Given the description of an element on the screen output the (x, y) to click on. 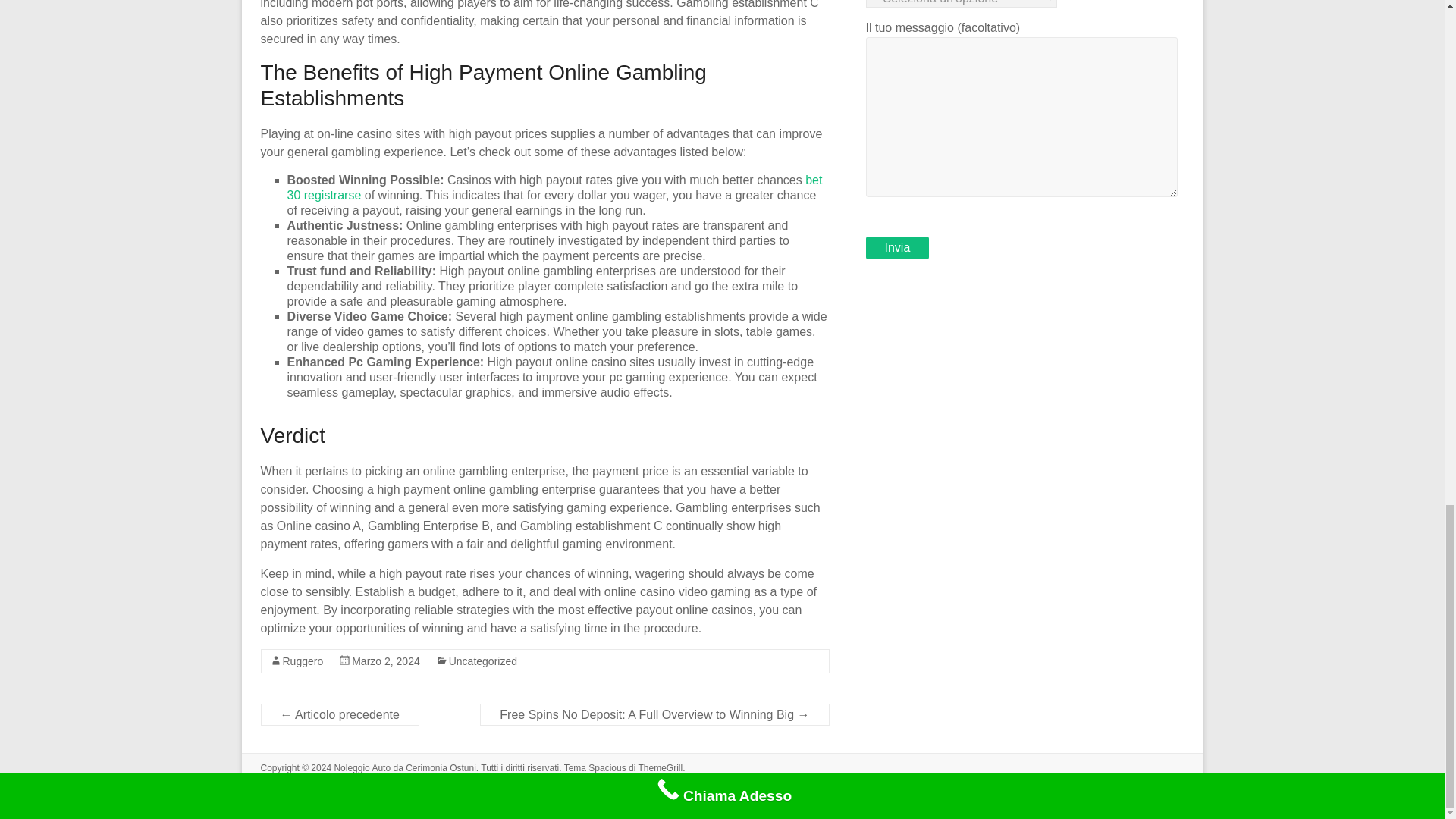
Invia (898, 247)
WordPress (342, 781)
Uncategorized (482, 661)
Noleggio Auto da Cerimonia Ostuni (404, 767)
bet 30 registrarse (554, 187)
Spacious (607, 767)
3:44 pm (386, 661)
Ruggero (302, 661)
Marzo 2, 2024 (386, 661)
